Given the description of an element on the screen output the (x, y) to click on. 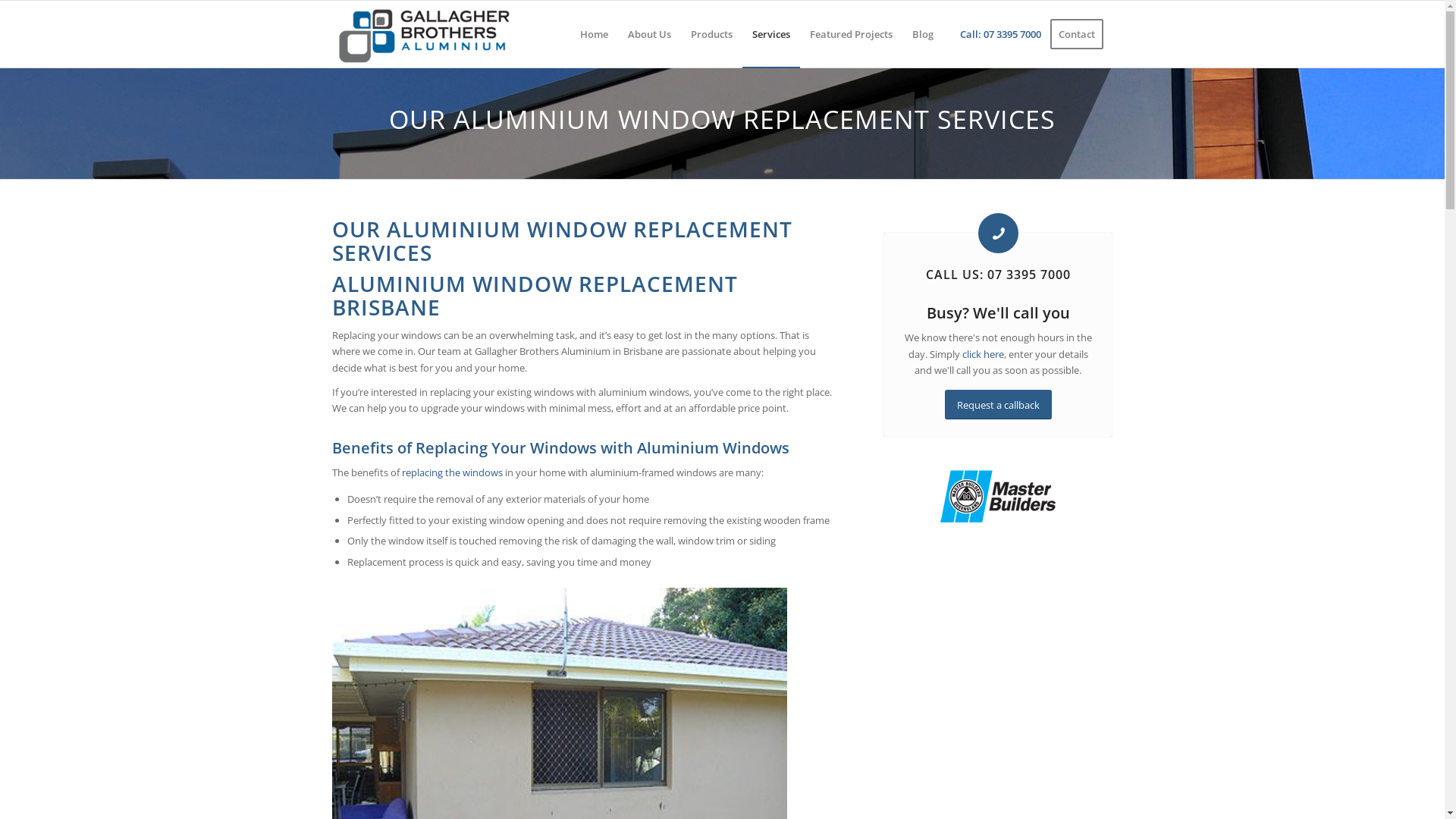
07 3395 7000 Element type: text (1028, 274)
CALL US: Element type: text (956, 274)
replacing the windows Element type: text (451, 472)
Blog Element type: text (922, 33)
Products Element type: text (711, 33)
Services Element type: text (770, 33)
Contact Element type: text (1080, 33)
Request a callback Element type: text (997, 404)
click here Element type: text (983, 353)
Home Element type: text (594, 33)
Call: 07 3395 7000 Element type: text (1000, 33)
About Us Element type: text (648, 33)
Featured Projects Element type: text (850, 33)
